Given the description of an element on the screen output the (x, y) to click on. 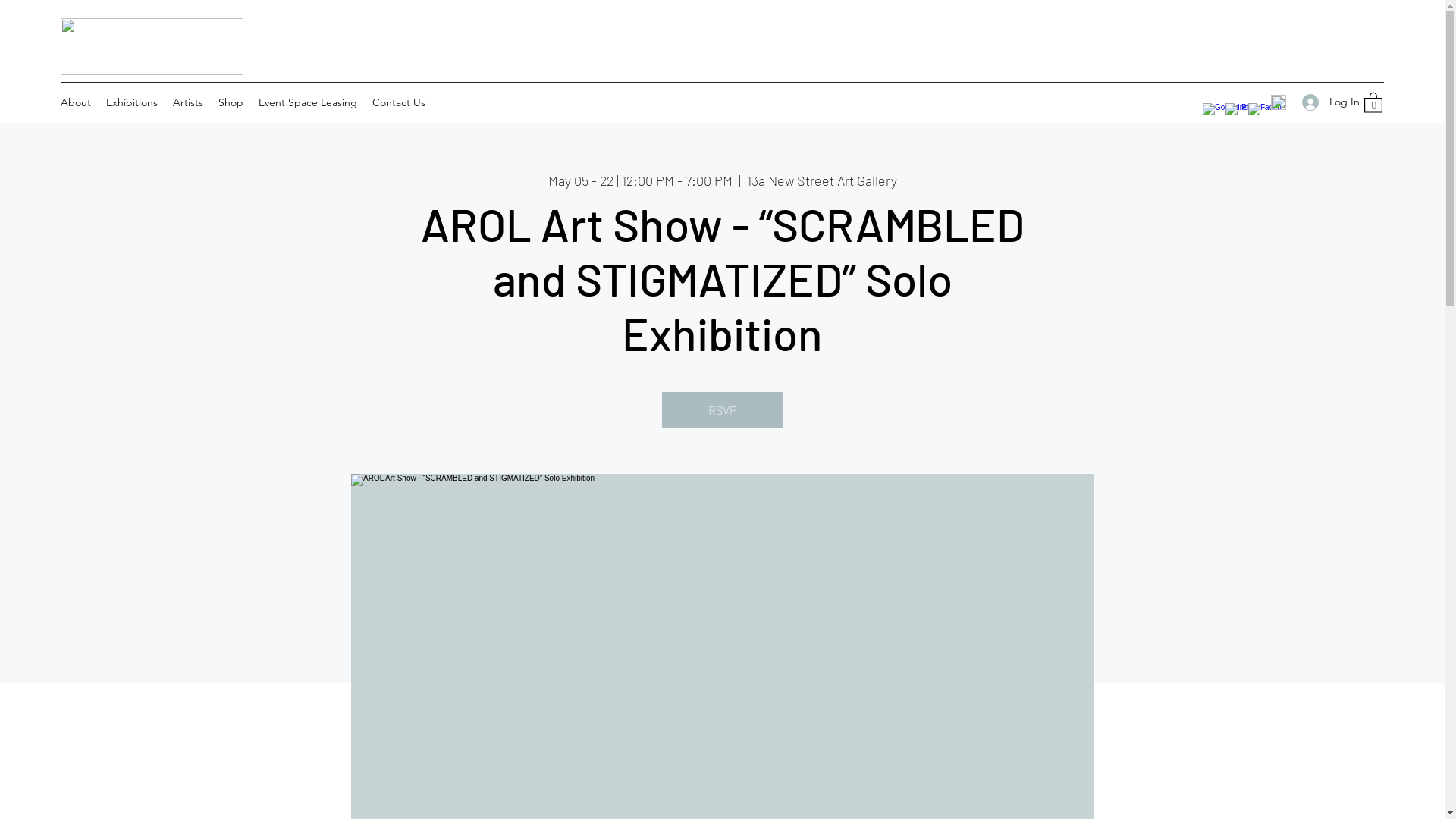
0 Element type: text (1373, 101)
Shop Element type: text (230, 102)
Event Space Leasing Element type: text (307, 102)
Contact Us Element type: text (398, 102)
Log In Element type: text (1325, 101)
RSVP Element type: text (721, 410)
About Element type: text (75, 102)
